Given the description of an element on the screen output the (x, y) to click on. 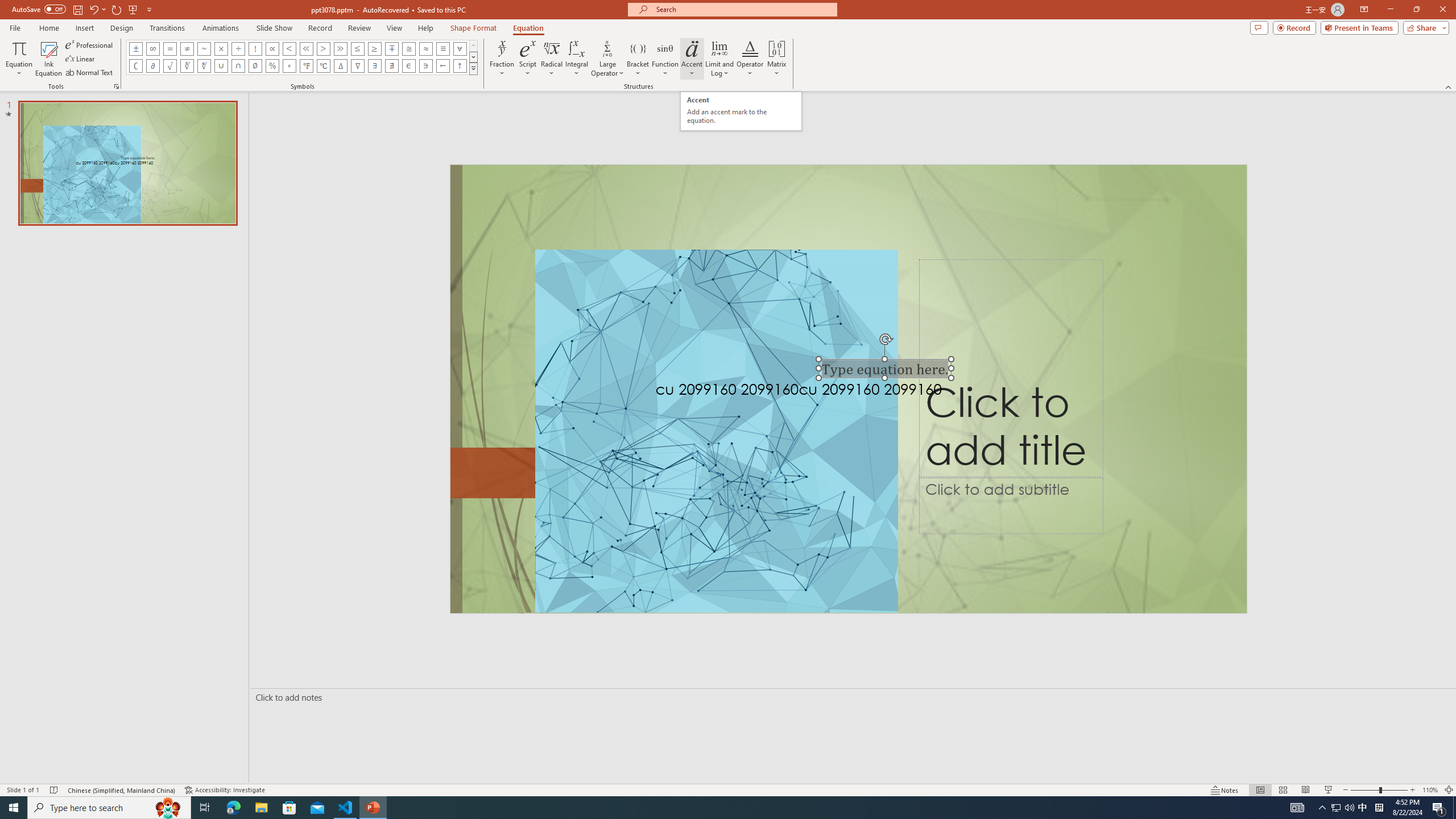
Equation Symbol Multiplication Sign (221, 48)
Equation Symbol Almost Equal To (Asymptotic To) (425, 48)
Large Operator (607, 58)
Radical (552, 58)
Equation Symbol Degrees Fahrenheit (306, 65)
Fraction (502, 58)
Equation (18, 58)
Equation Symbol Cube Root (187, 65)
